Given the description of an element on the screen output the (x, y) to click on. 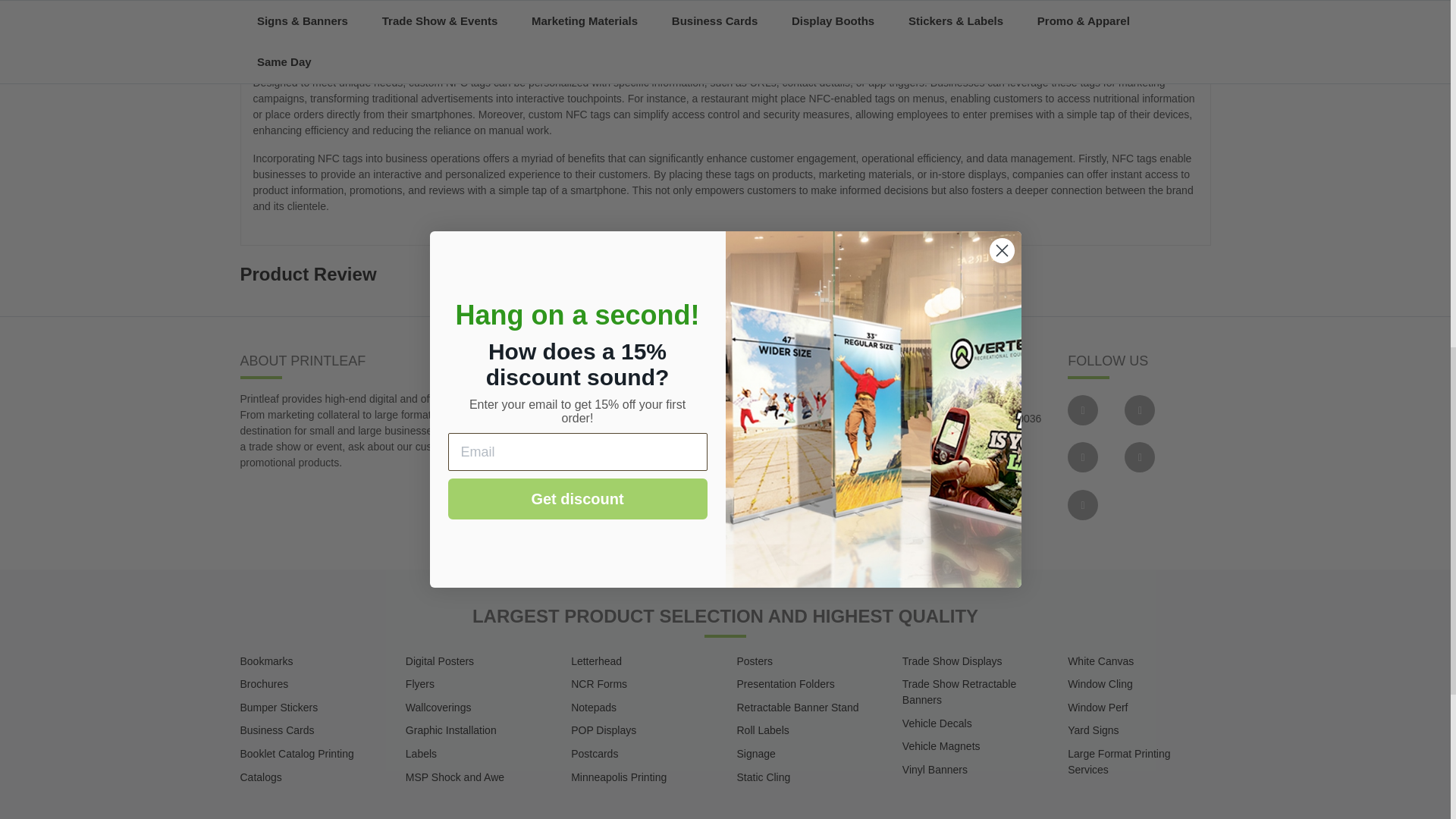
facebook (1082, 409)
instagram (1082, 457)
twitter (1139, 409)
linkedin (1139, 457)
pinterest (1082, 504)
